Given the description of an element on the screen output the (x, y) to click on. 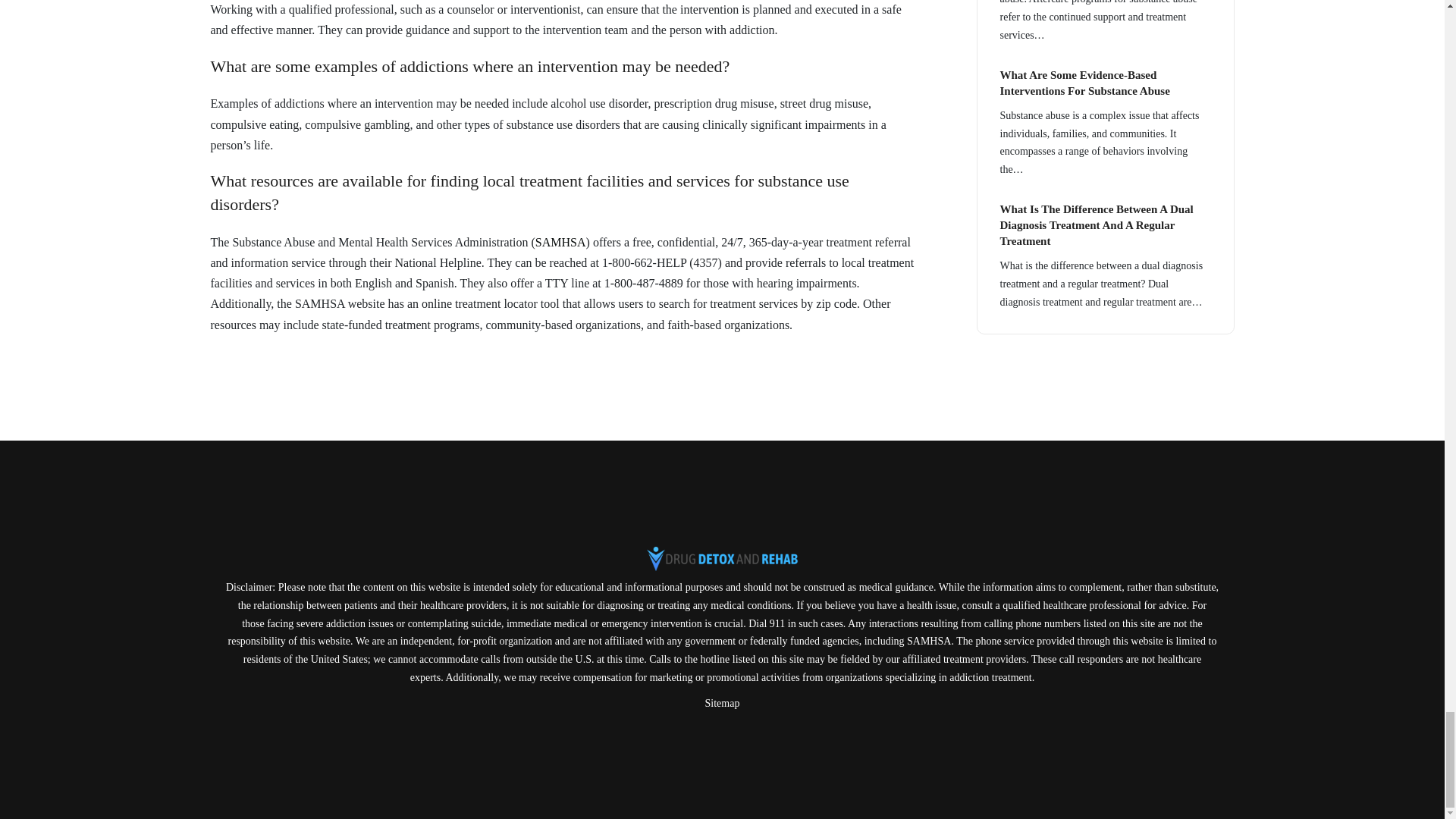
SAMHSA (560, 241)
